Given the description of an element on the screen output the (x, y) to click on. 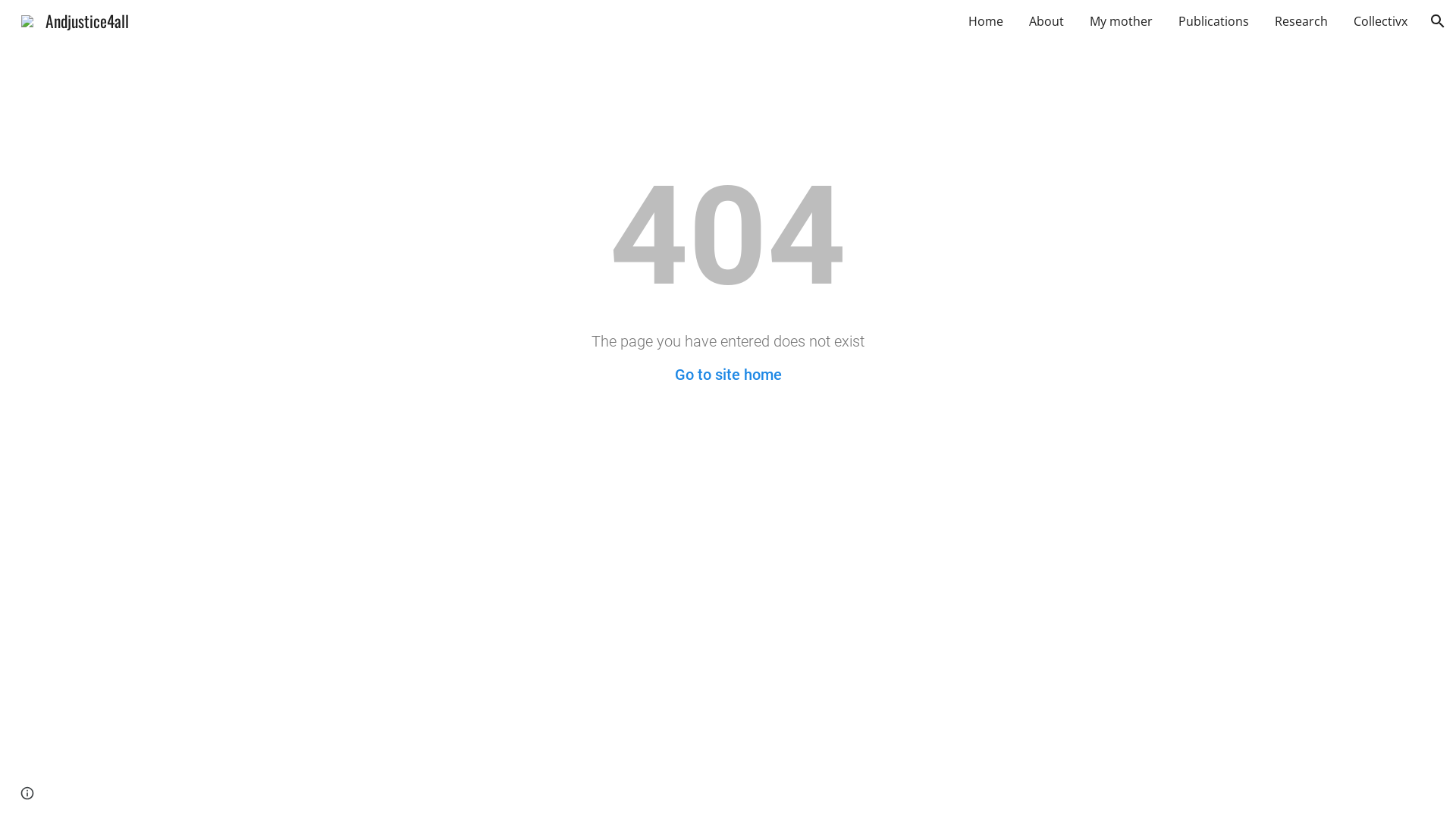
Home Element type: text (985, 20)
My mother Element type: text (1121, 20)
About Element type: text (1046, 20)
Andjustice4all Element type: text (75, 18)
Collectivx Element type: text (1380, 20)
Go to site home Element type: text (727, 374)
Publications Element type: text (1213, 20)
Research Element type: text (1301, 20)
